Given the description of an element on the screen output the (x, y) to click on. 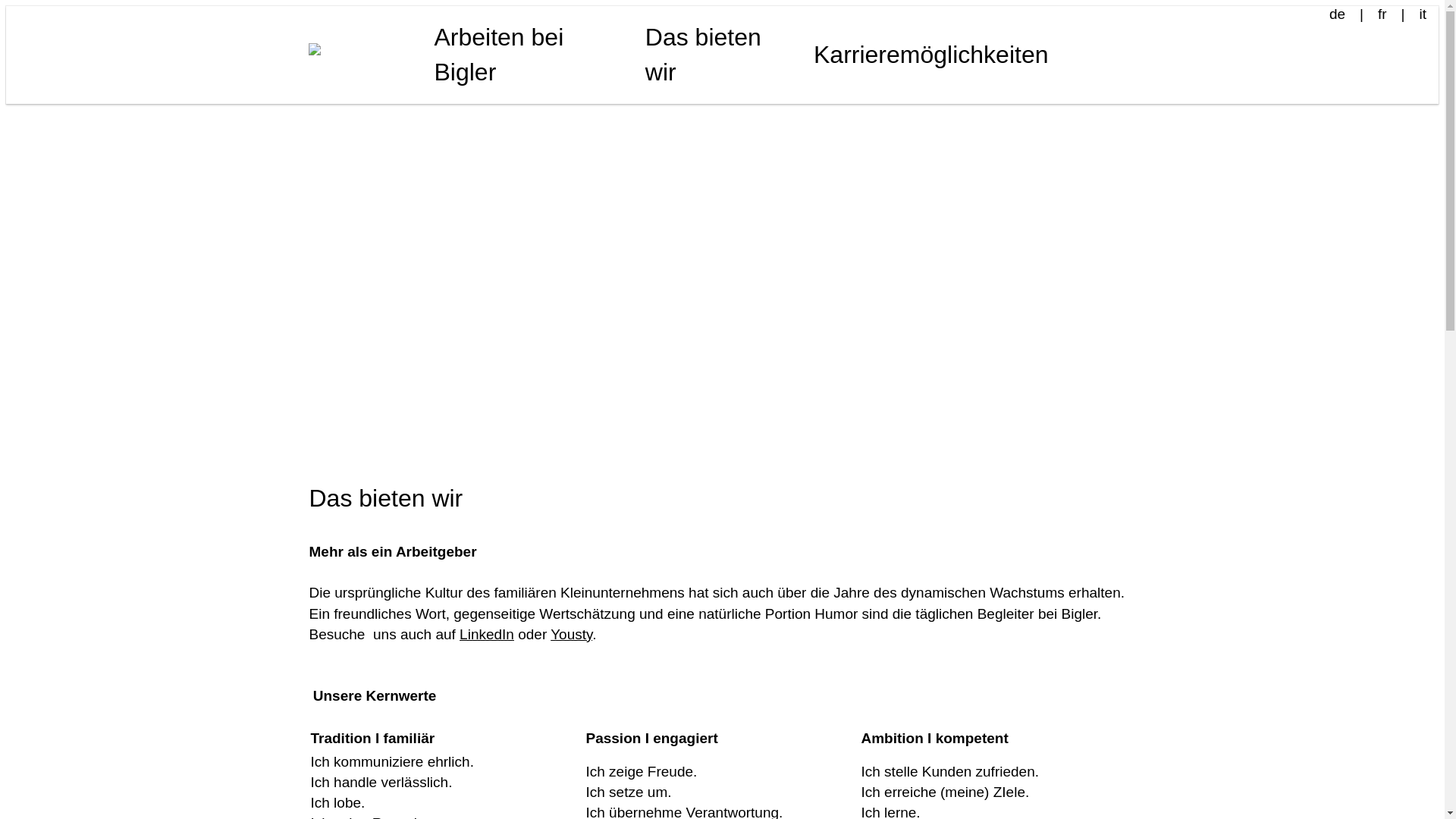
Yousty Element type: text (571, 634)
Arbeiten bei Bigler Element type: text (527, 54)
LinkedIn Element type: text (486, 634)
fr Element type: text (1381, 13)
Das bieten wir Element type: text (717, 54)
it Element type: text (1423, 13)
